Given the description of an element on the screen output the (x, y) to click on. 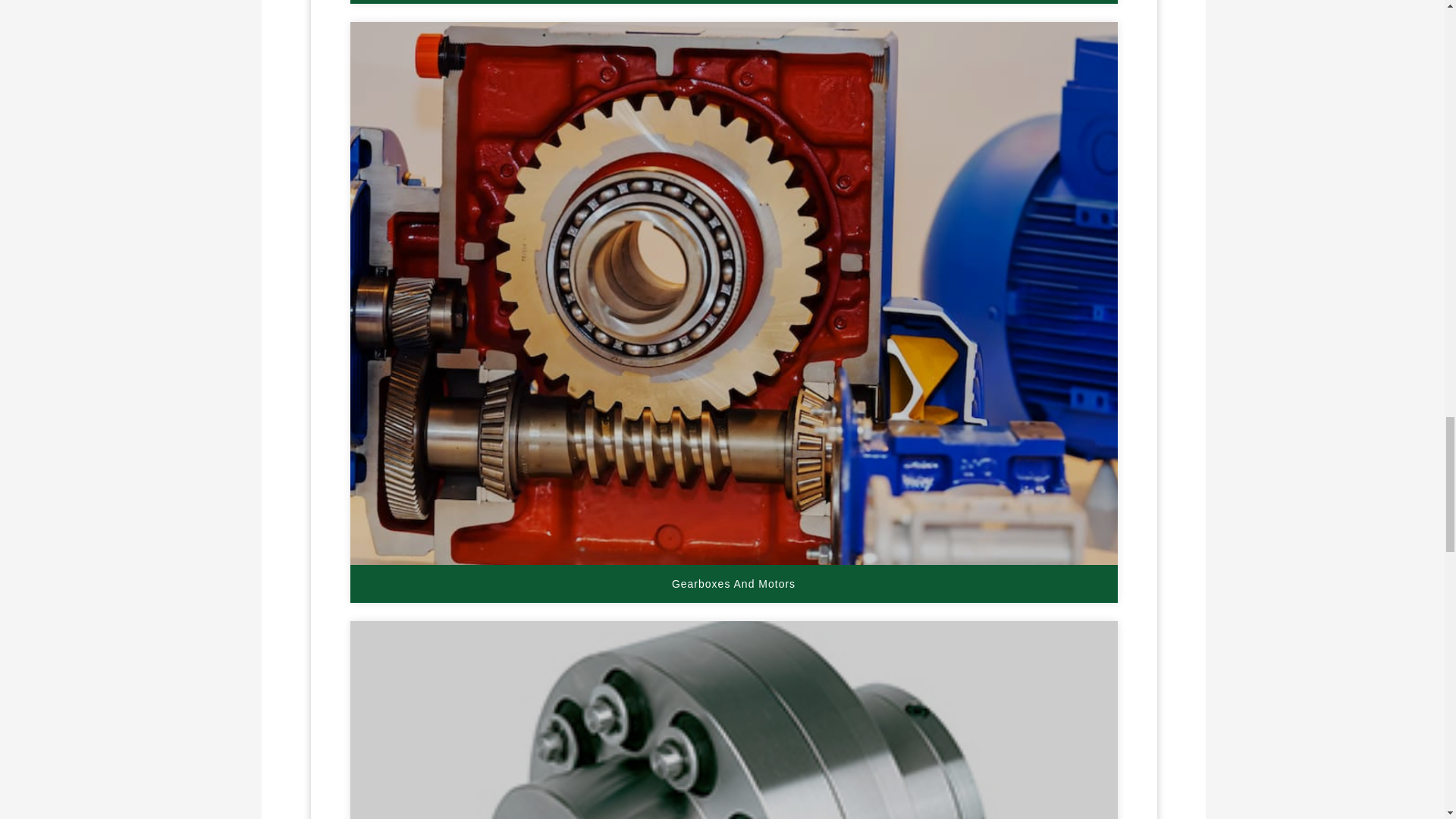
Ancillary Products (733, 2)
